Given the description of an element on the screen output the (x, y) to click on. 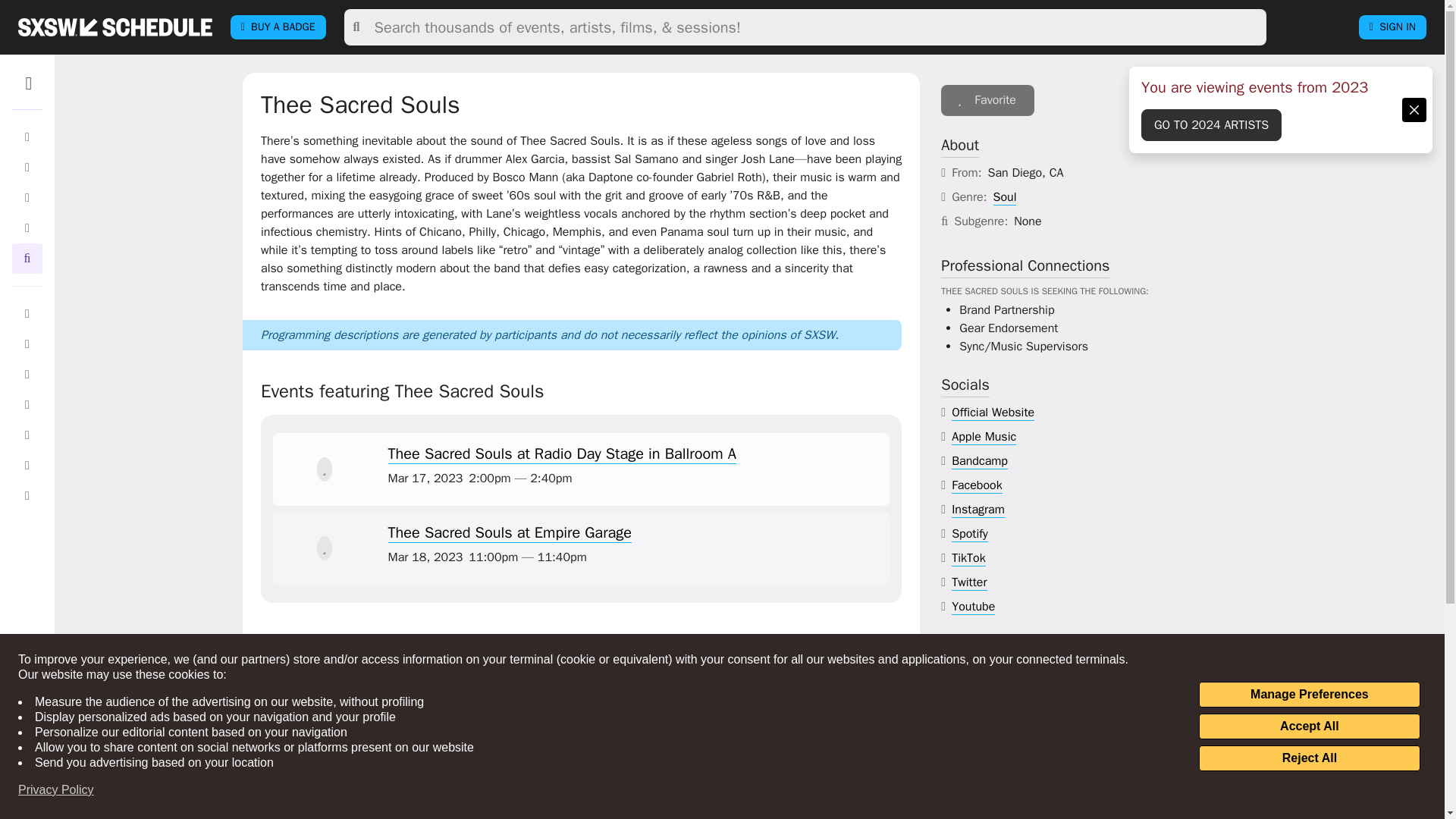
facebook (976, 485)
website (992, 412)
Sign In to add to your favorites. (324, 548)
sxsw SCHEDULE (114, 27)
Sign In to add to your favorites. (986, 100)
Accept All (1309, 726)
Privacy Policy (55, 789)
GO TO 2024 ARTISTS (1211, 124)
Manage Preferences (1309, 694)
apple (984, 437)
Sign In to add to your favorites. (324, 469)
bandcamp (979, 461)
instagram (978, 509)
SIGN IN (1392, 27)
BUY A BADGE (278, 27)
